Given the description of an element on the screen output the (x, y) to click on. 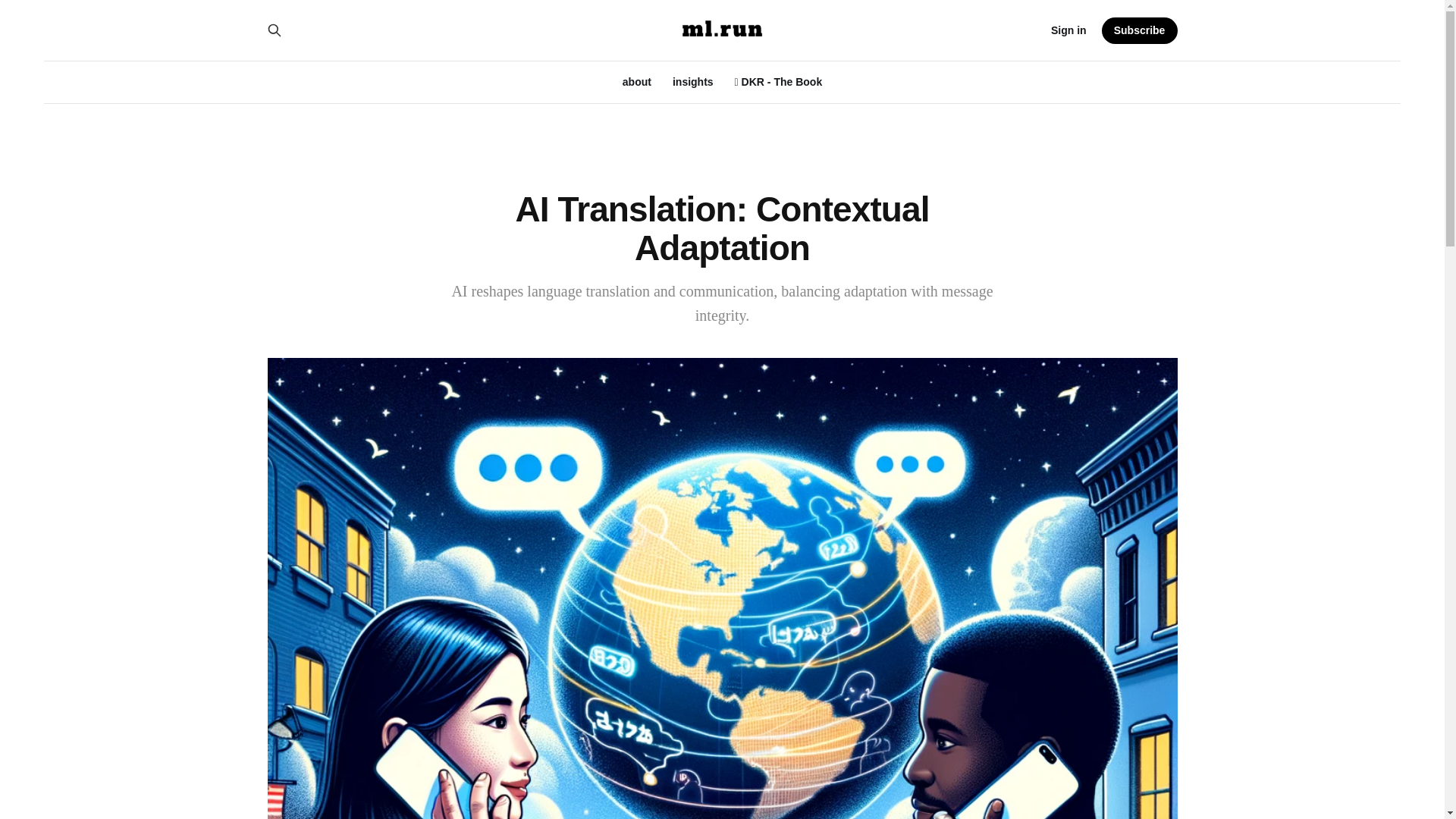
about (636, 81)
Sign in (1068, 30)
Subscribe (1139, 29)
insights (692, 81)
